Given the description of an element on the screen output the (x, y) to click on. 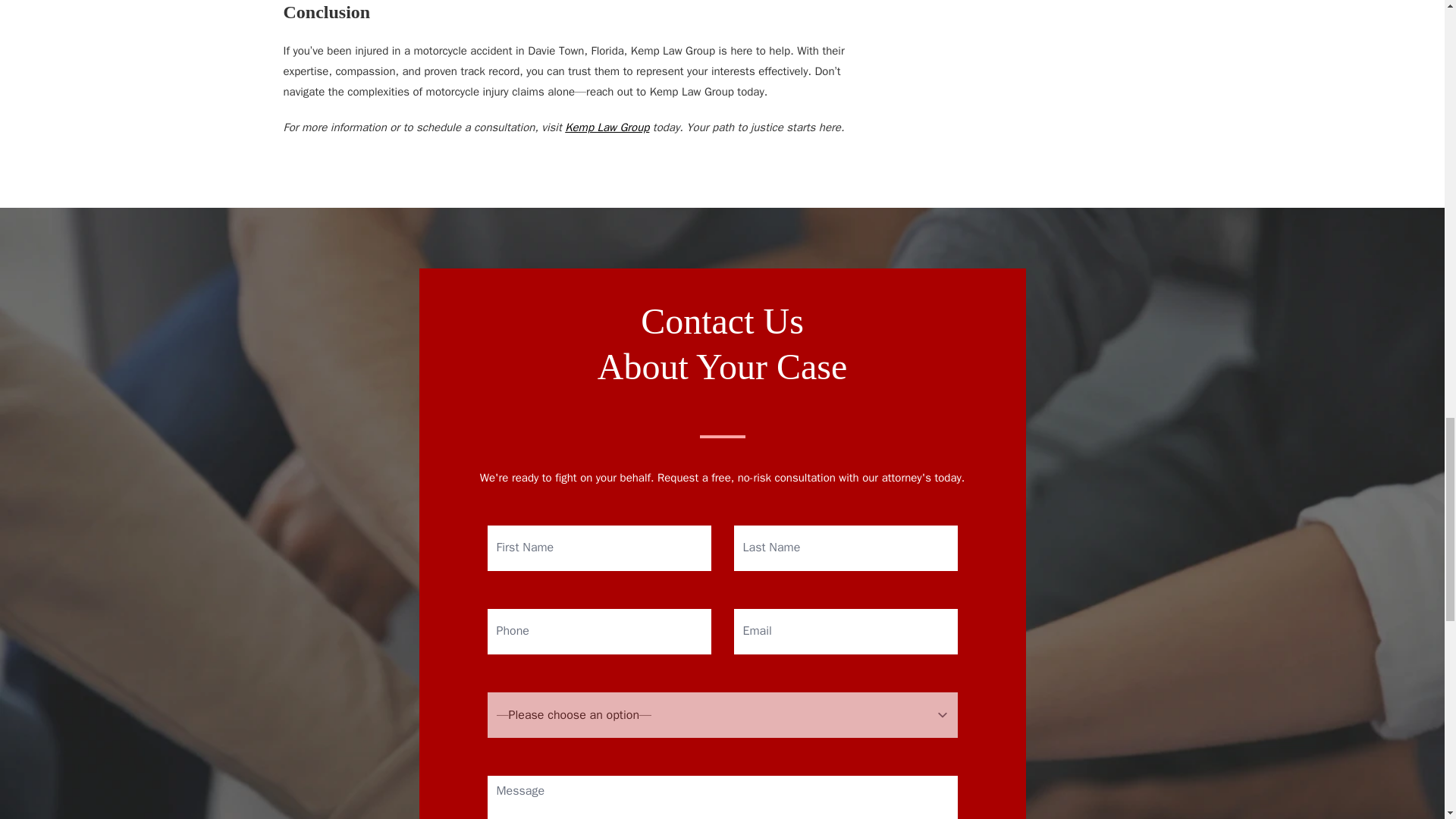
Kemp Law Group (606, 127)
